Given the description of an element on the screen output the (x, y) to click on. 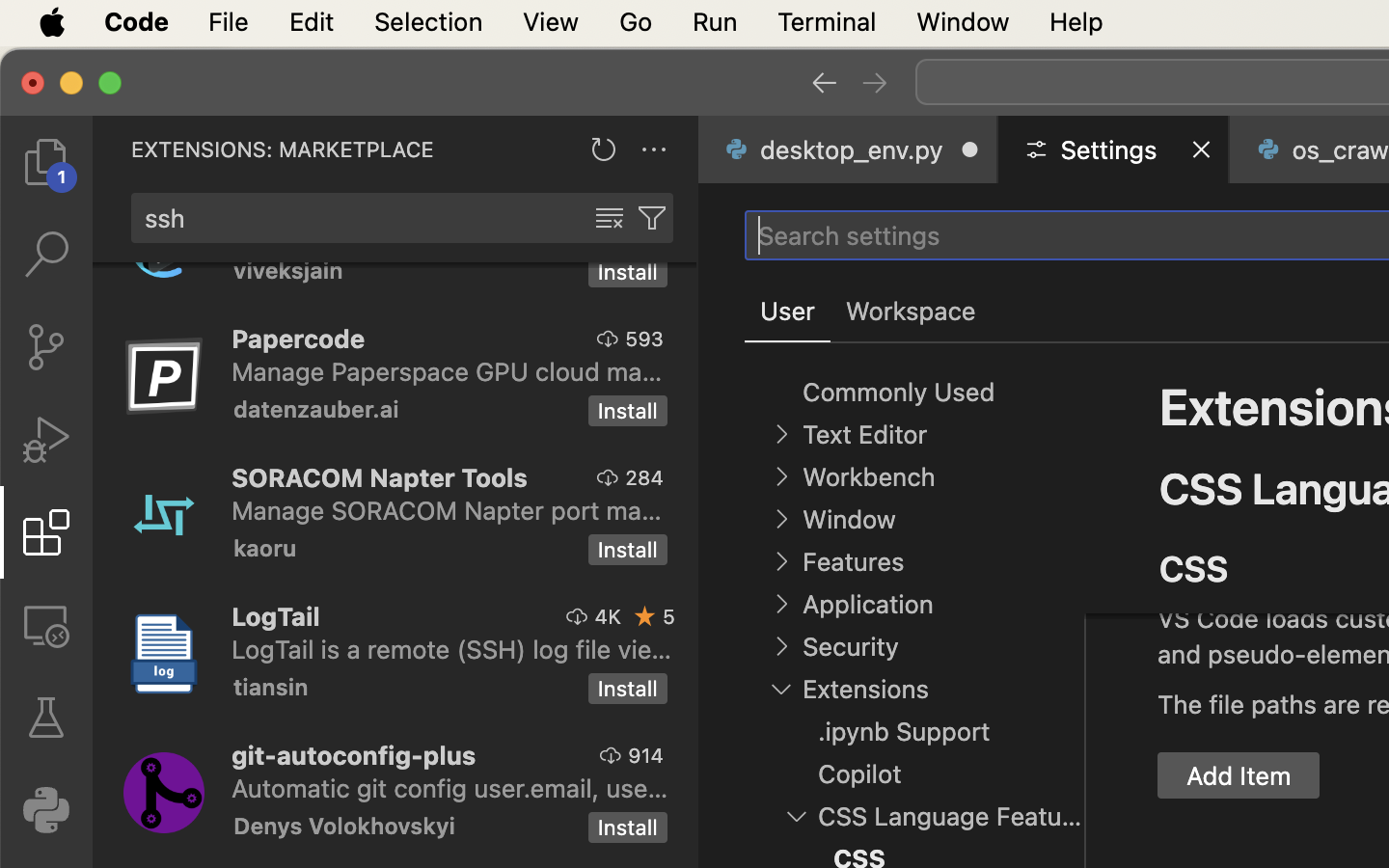
0  Element type: AXRadioButton (46, 624)
Application Element type: AXStaticText (867, 604)
1  Element type: AXRadioButton (46, 532)
593 Element type: AXStaticText (644, 338)
Security Element type: AXStaticText (850, 646)
